Given the description of an element on the screen output the (x, y) to click on. 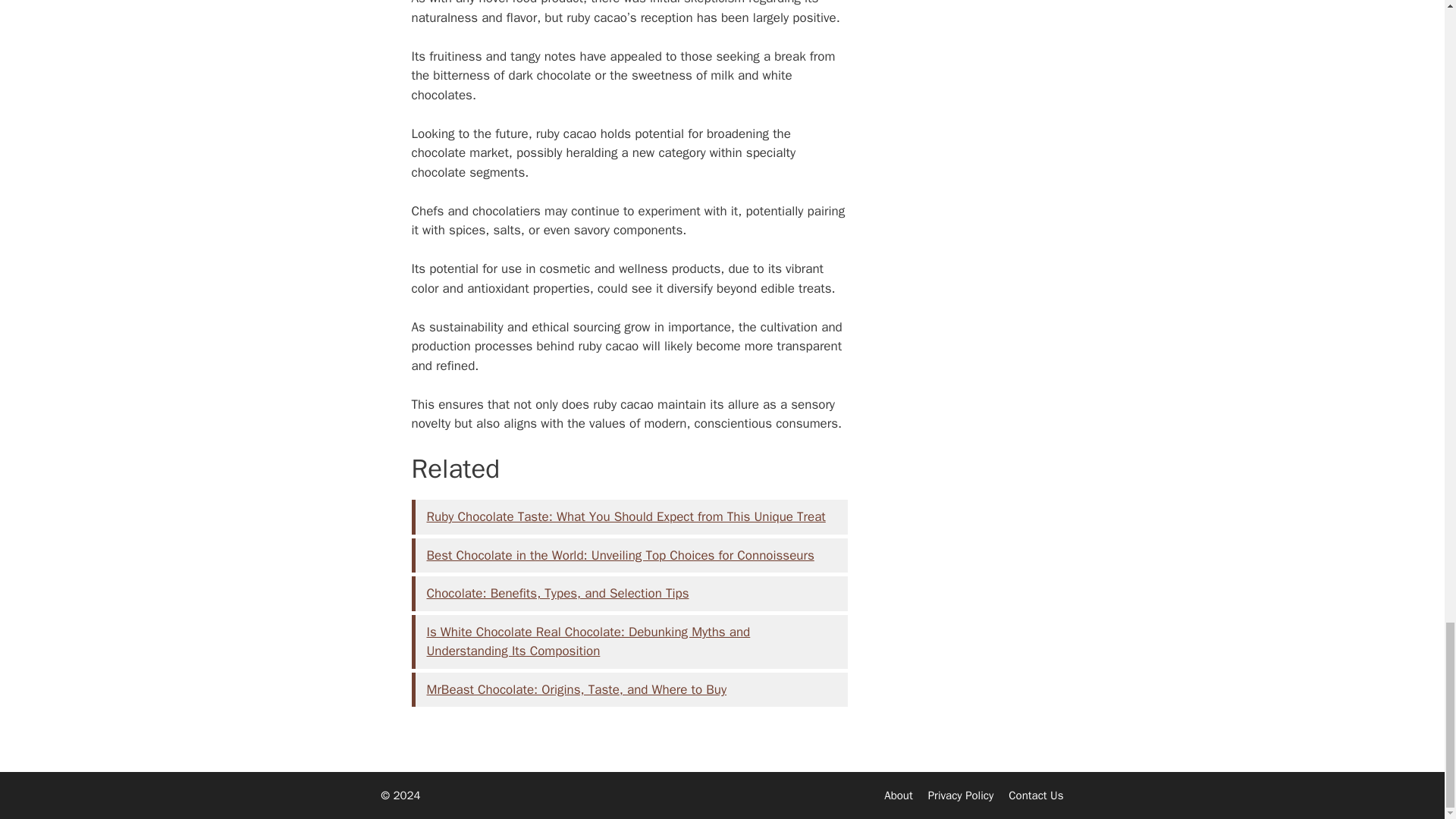
Chocolate: Benefits, Types, and Selection Tips (557, 593)
MrBeast Chocolate: Origins, Taste, and Where to Buy (576, 689)
Privacy Policy (961, 795)
Chocolate: Benefits, Types, and Selection Tips (557, 593)
About (897, 795)
MrBeast Chocolate: Origins, Taste, and Where to Buy (576, 689)
